Given the description of an element on the screen output the (x, y) to click on. 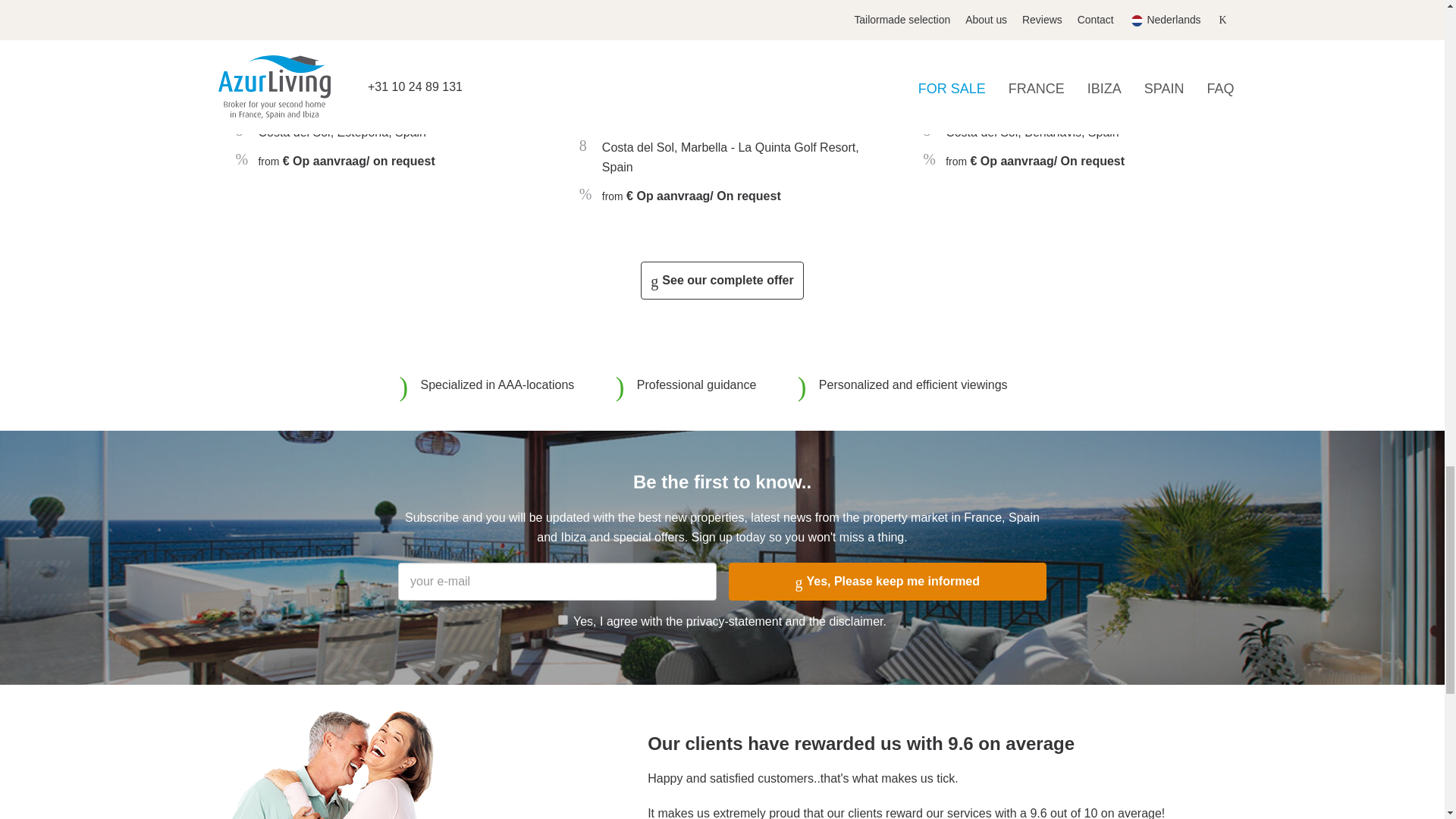
1 (562, 619)
Stylish contemporary apartements with stunning sea views (1065, 94)
Magnificent contemporary apartements with stunning sea views (378, 94)
